Given the description of an element on the screen output the (x, y) to click on. 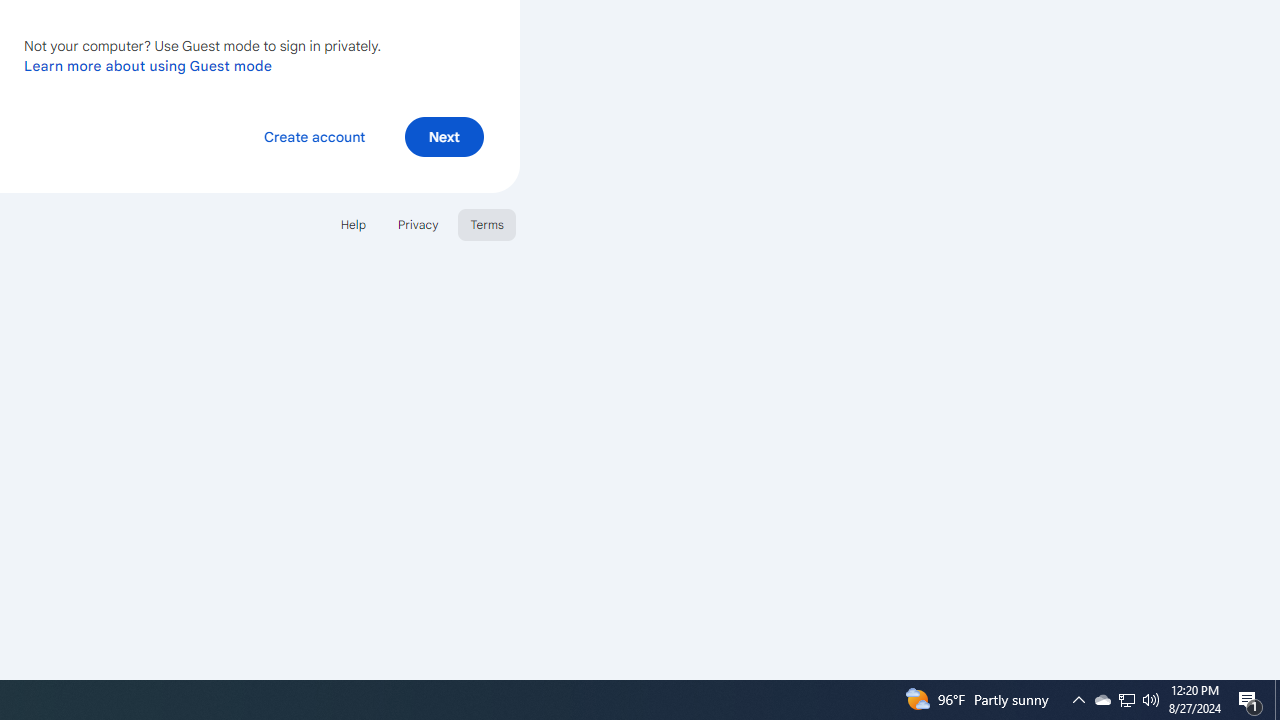
Learn more about using Guest mode (148, 65)
Create account (314, 135)
Next (443, 135)
